Given the description of an element on the screen output the (x, y) to click on. 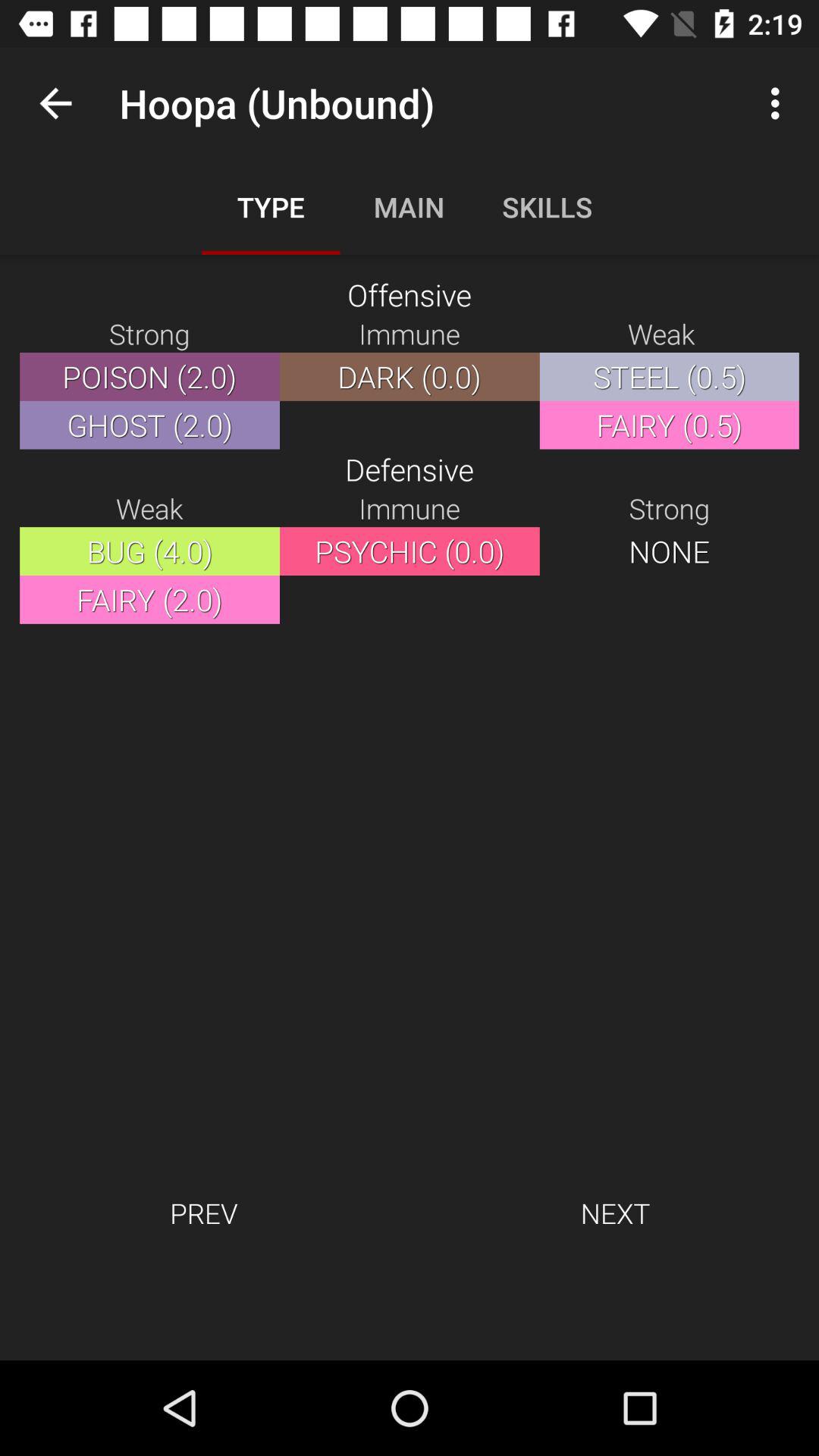
tap item above strong icon (55, 103)
